Given the description of an element on the screen output the (x, y) to click on. 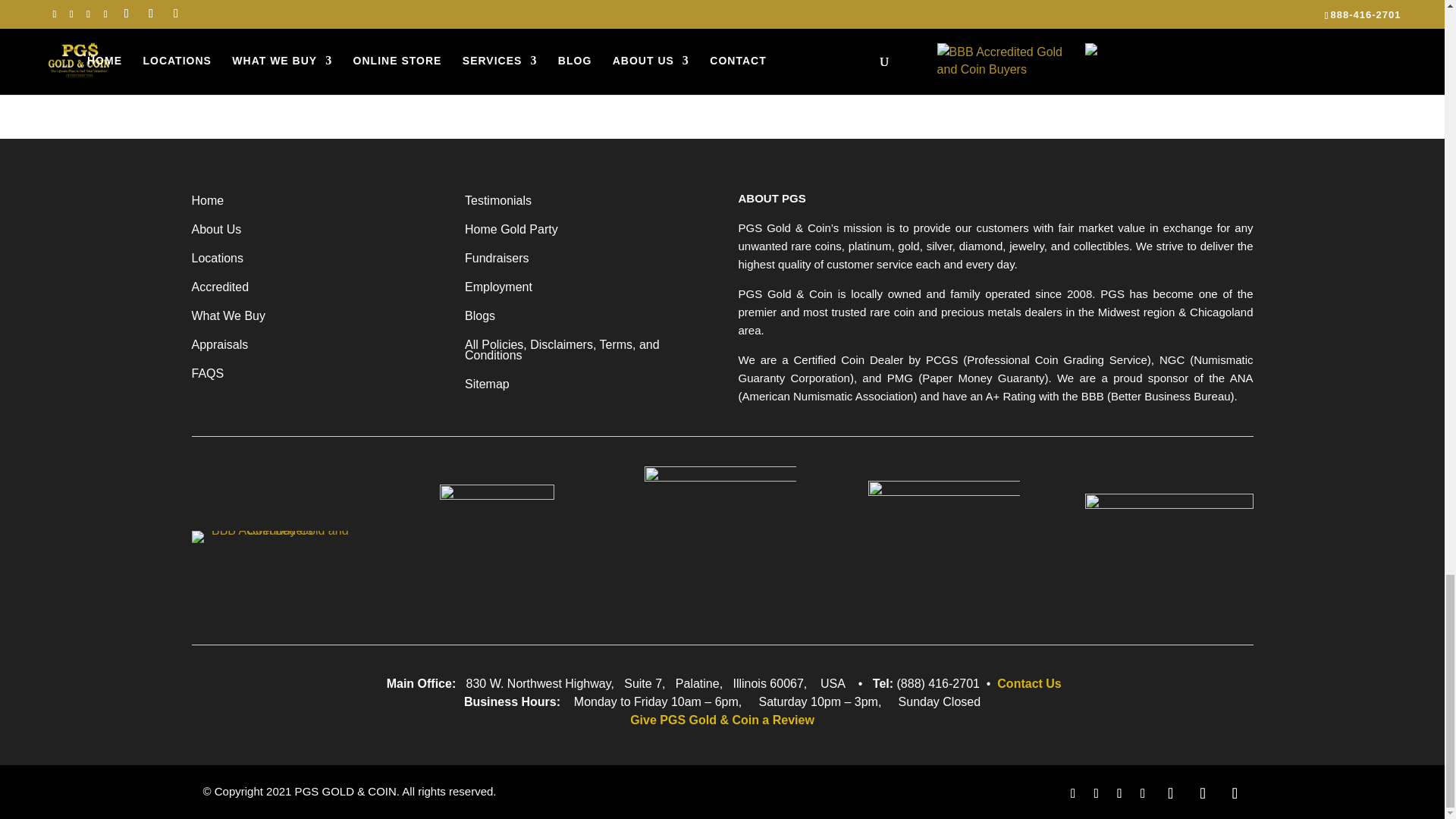
auth (943, 542)
bbb-a-plus-accredited-logo (273, 536)
ebay-top-rated-seller-tracking (1168, 542)
